Given the description of an element on the screen output the (x, y) to click on. 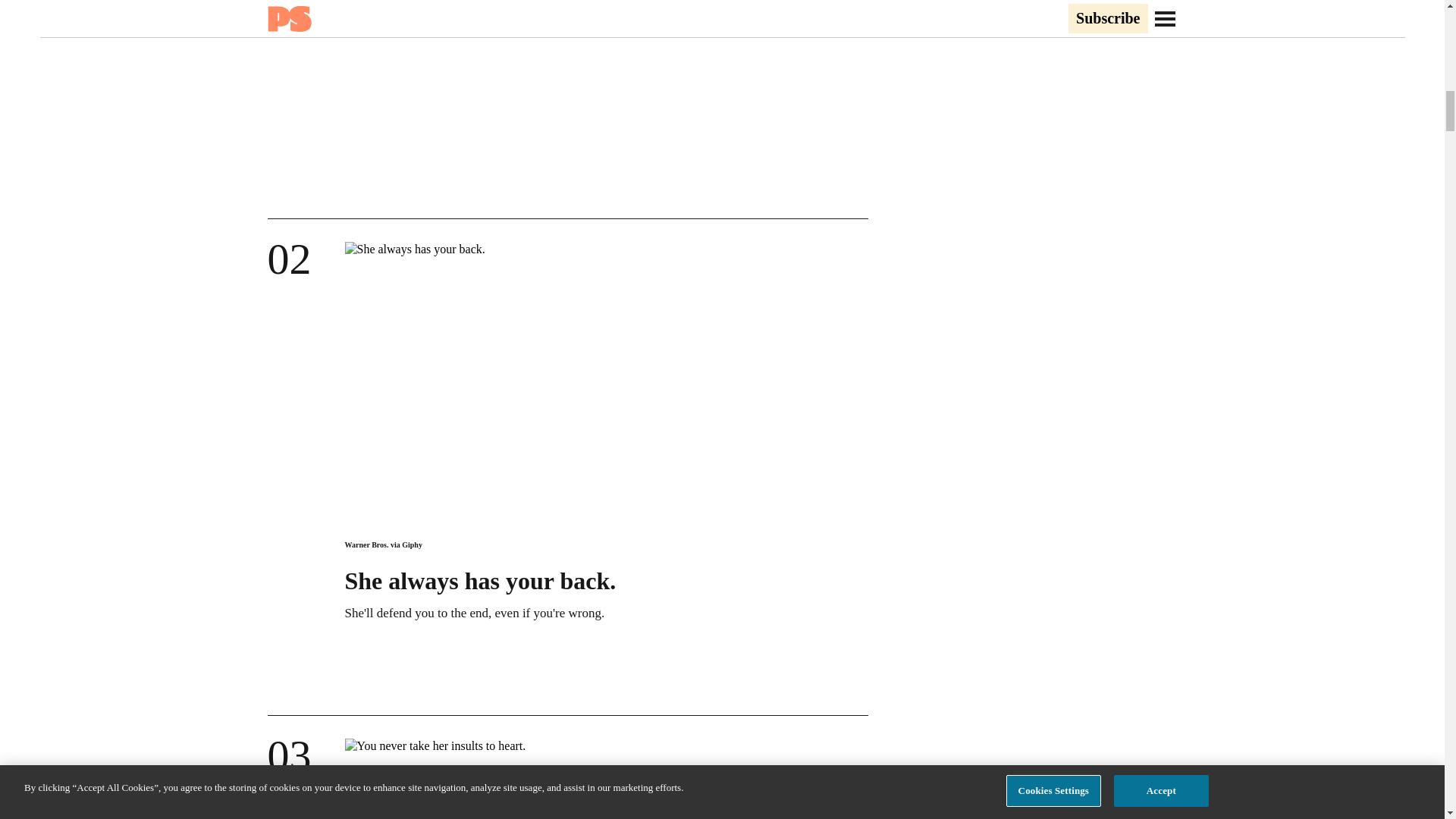
Warner Bros. via Giphy (382, 544)
